Given the description of an element on the screen output the (x, y) to click on. 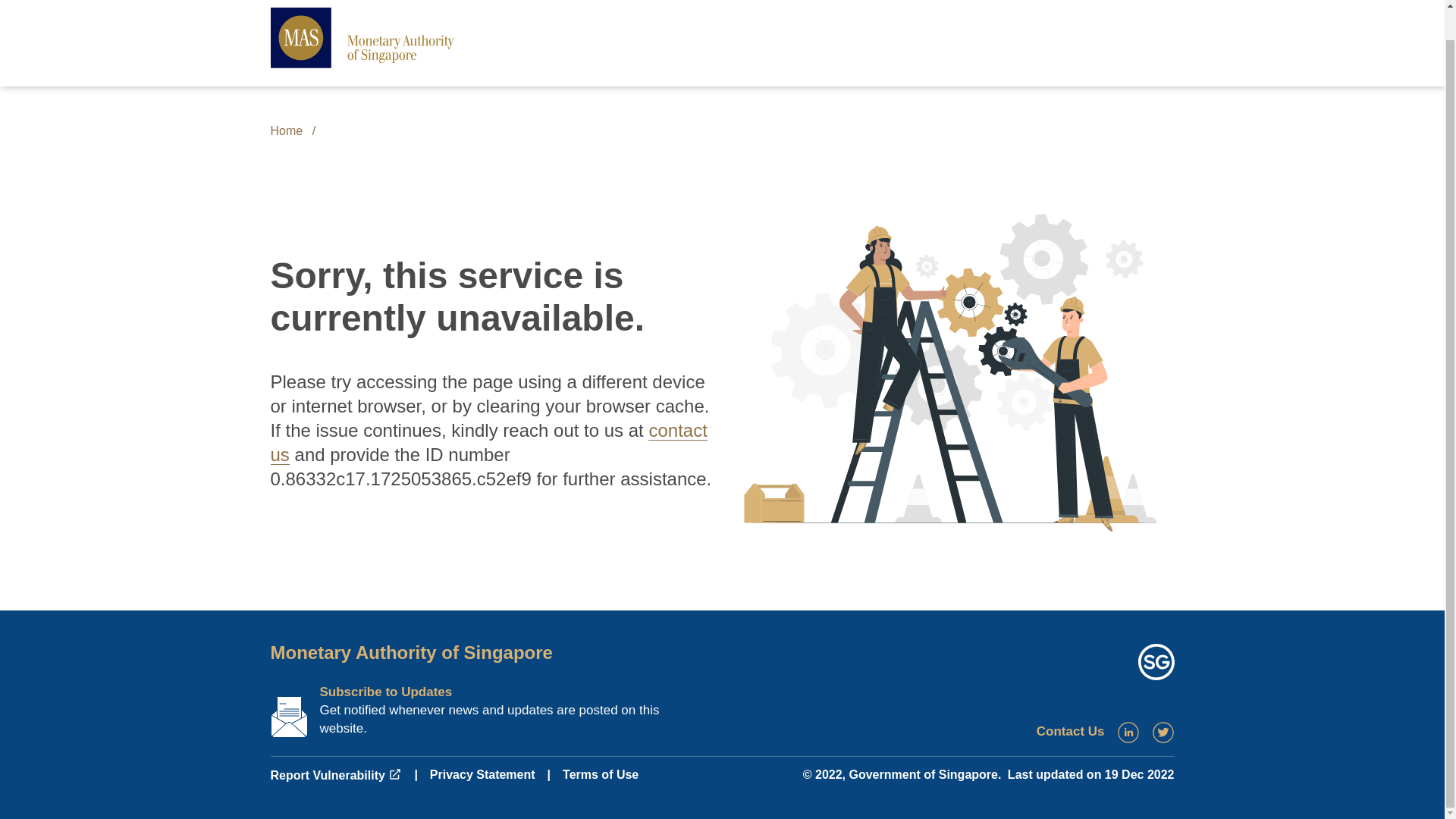
Monetary Authority of Singapore (410, 652)
Privacy Statement (482, 774)
Terms of Use (600, 774)
Home (285, 130)
contact us (487, 442)
Contact Us (1070, 730)
Report Vulnerability (335, 775)
